Given the description of an element on the screen output the (x, y) to click on. 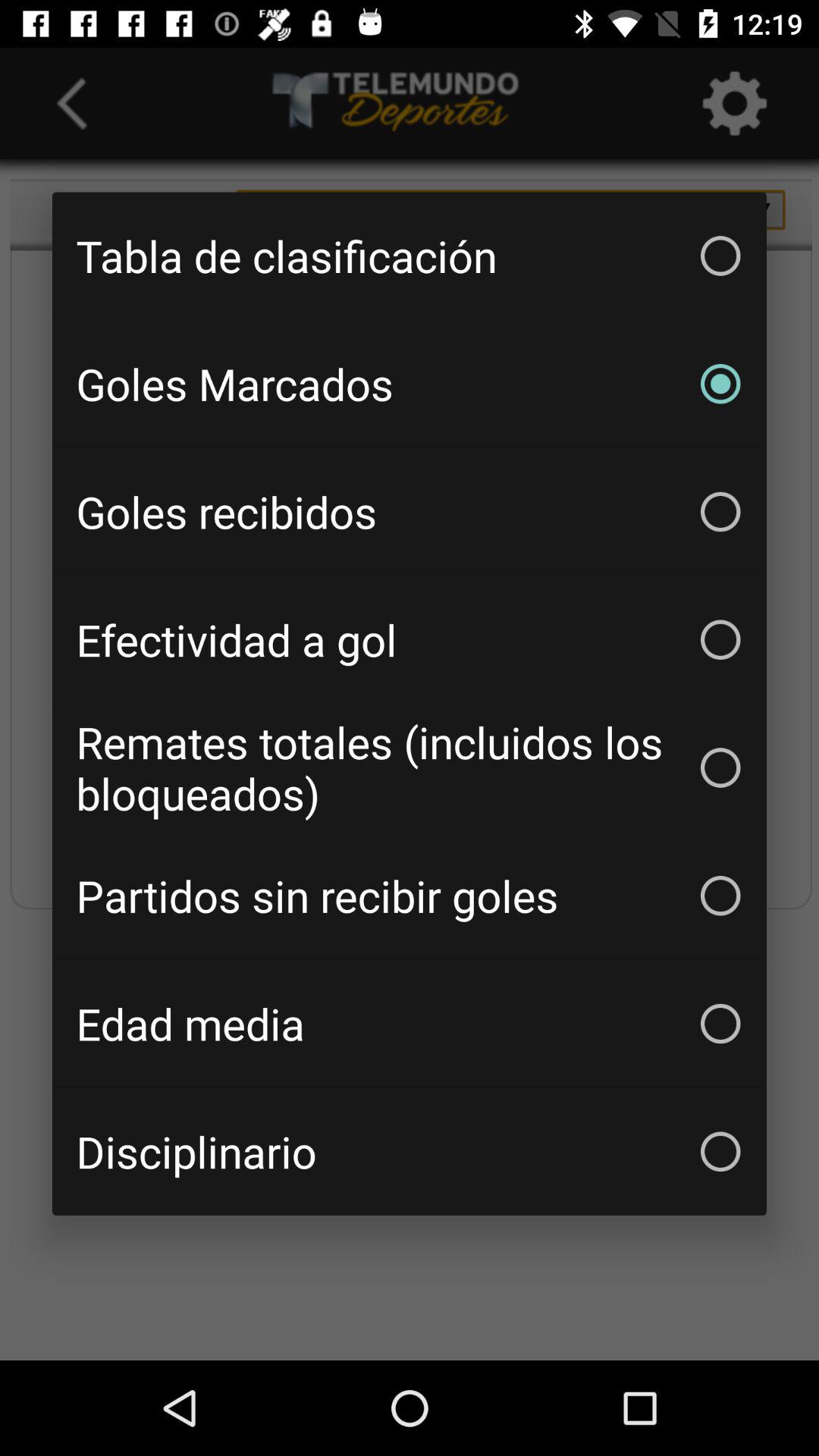
select the icon below the goles marcados (409, 511)
